Given the description of an element on the screen output the (x, y) to click on. 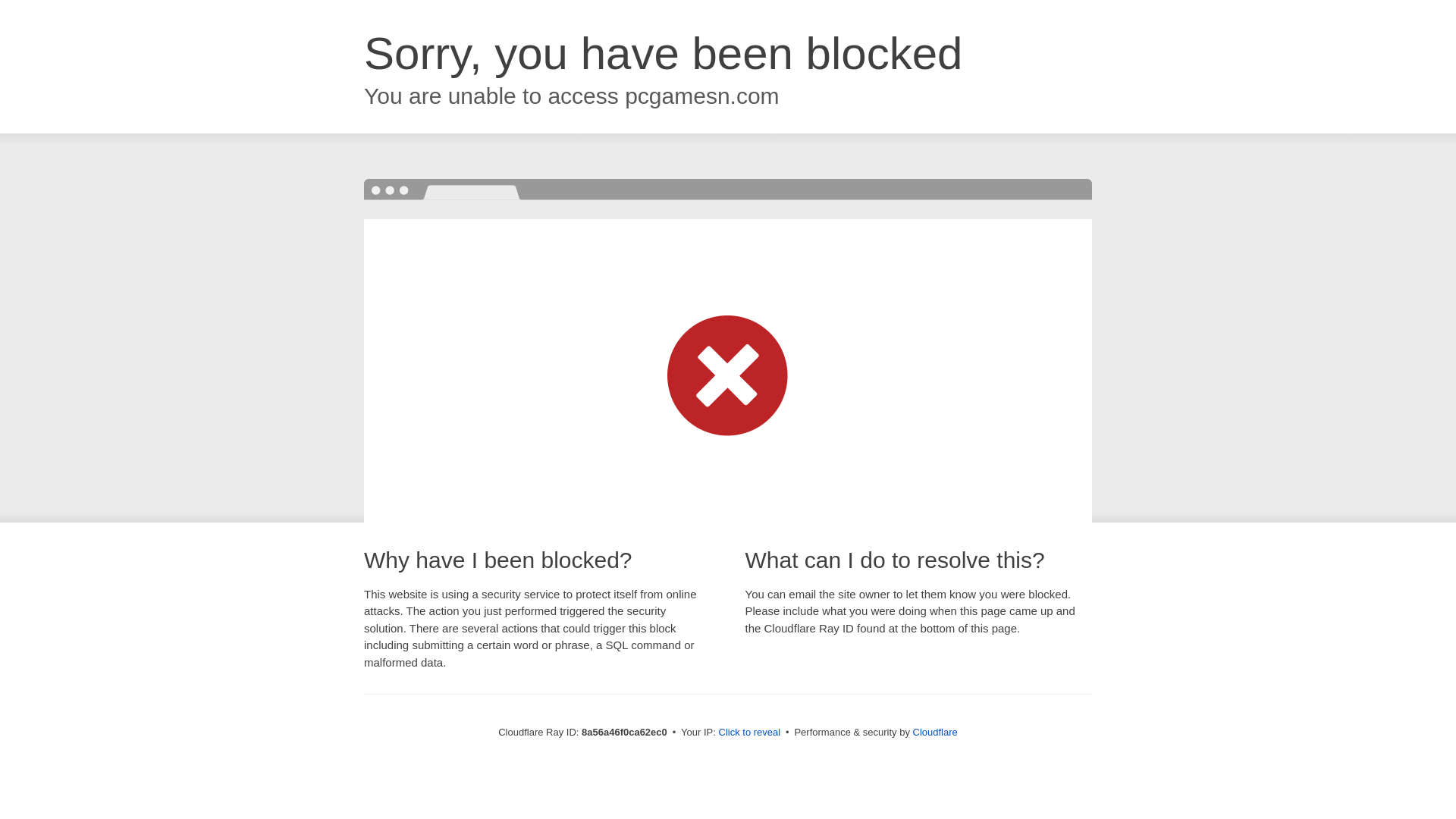
Click to reveal (749, 732)
Cloudflare (935, 731)
